Given the description of an element on the screen output the (x, y) to click on. 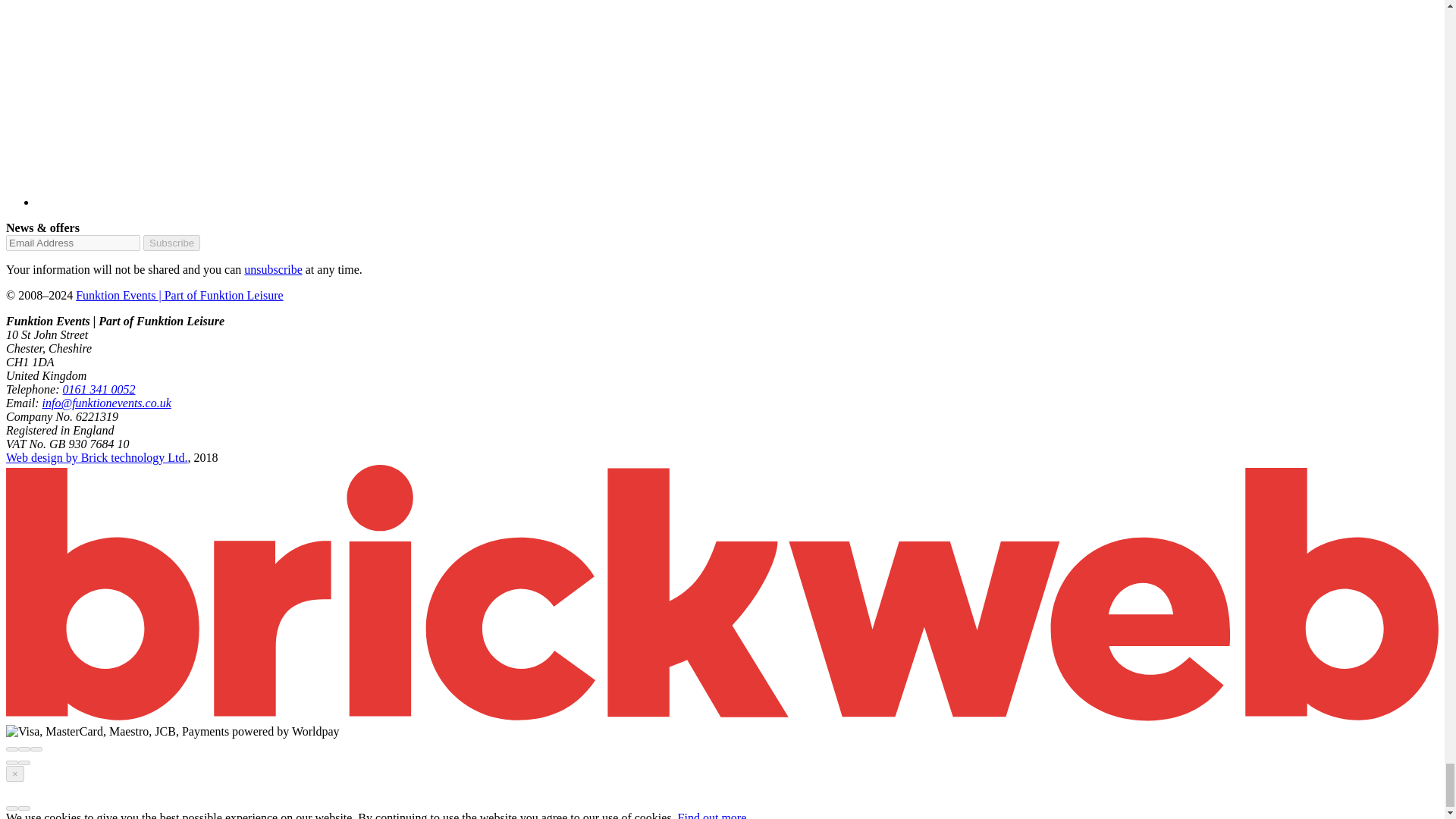
Subscribe (171, 242)
